Given the description of an element on the screen output the (x, y) to click on. 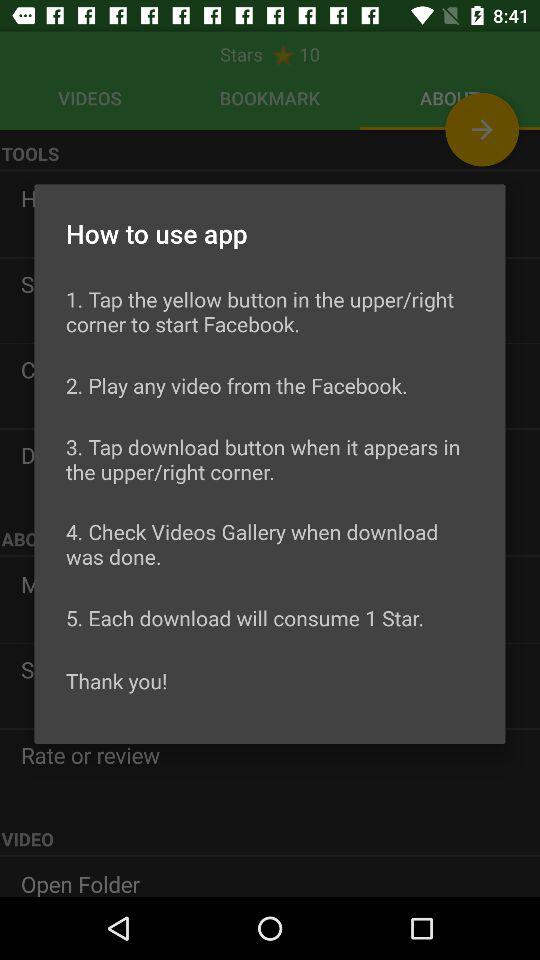
tap item above 3 tap download item (236, 385)
